Given the description of an element on the screen output the (x, y) to click on. 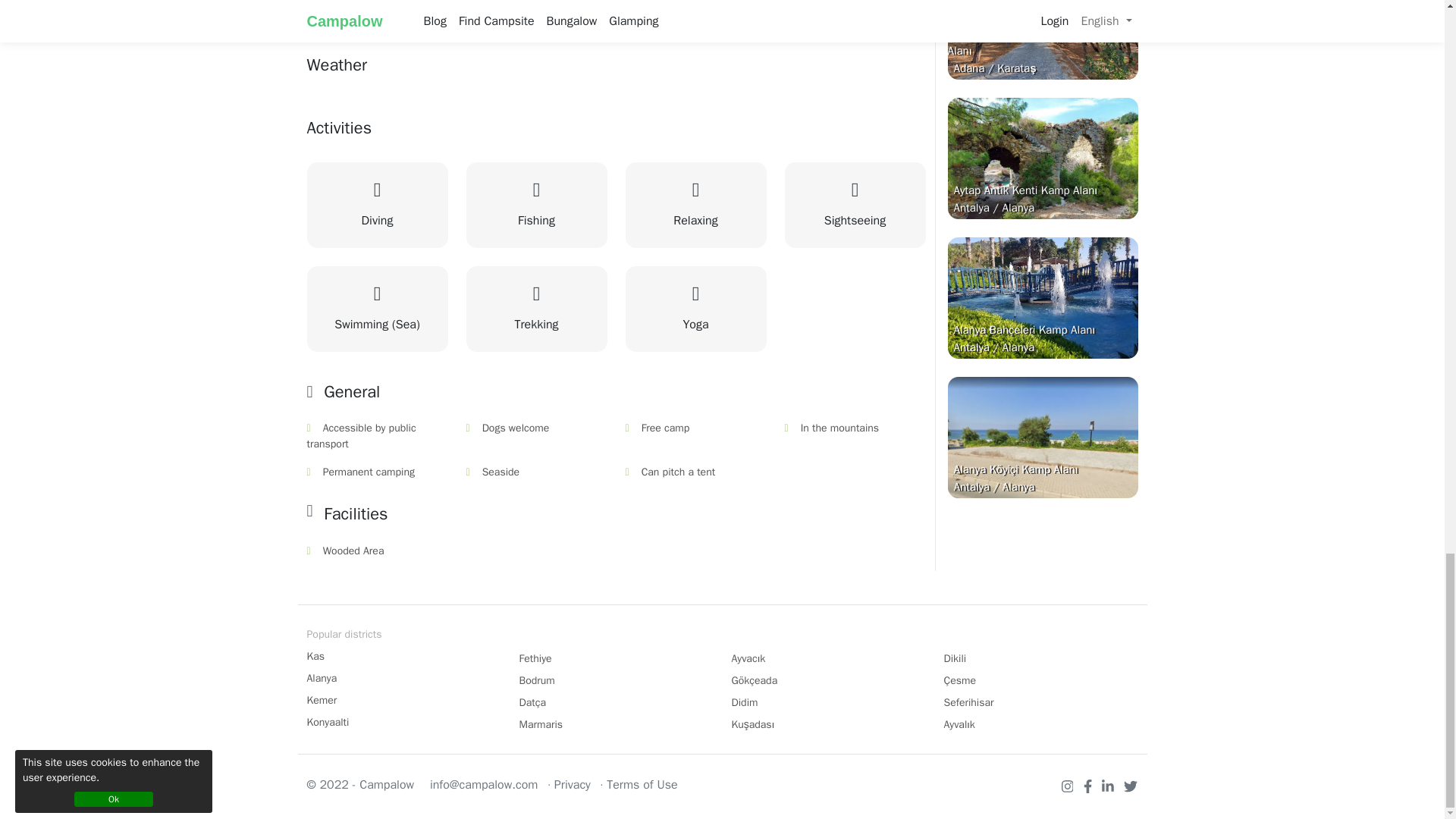
instagram (1069, 785)
linkedin (1110, 785)
